Given the description of an element on the screen output the (x, y) to click on. 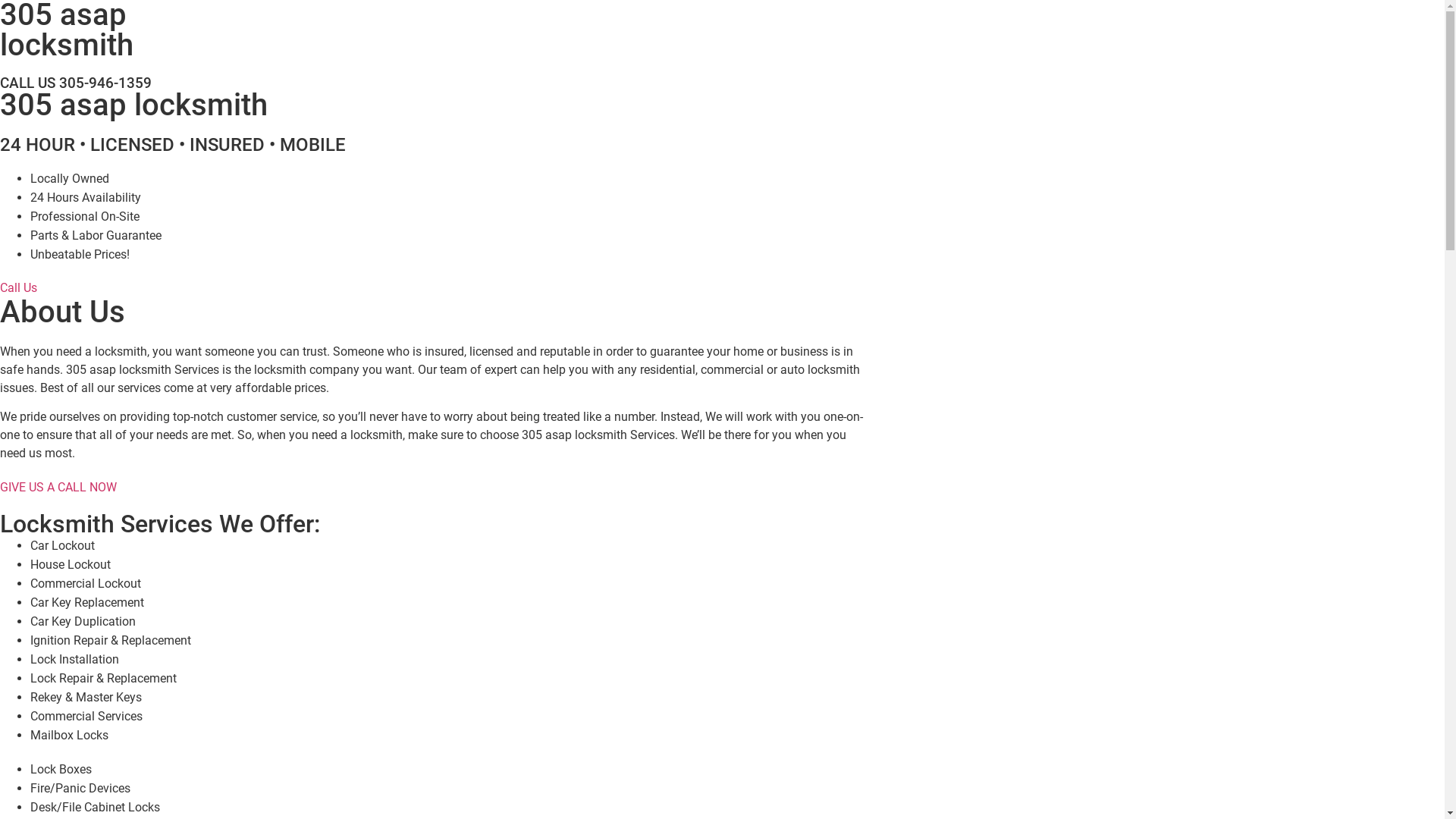
CALL US 305-946-1359 Element type: text (75, 82)
305 asap locksmith Element type: text (133, 104)
GIVE US A CALL NOW Element type: text (58, 487)
Call Us Element type: text (18, 287)
